Given the description of an element on the screen output the (x, y) to click on. 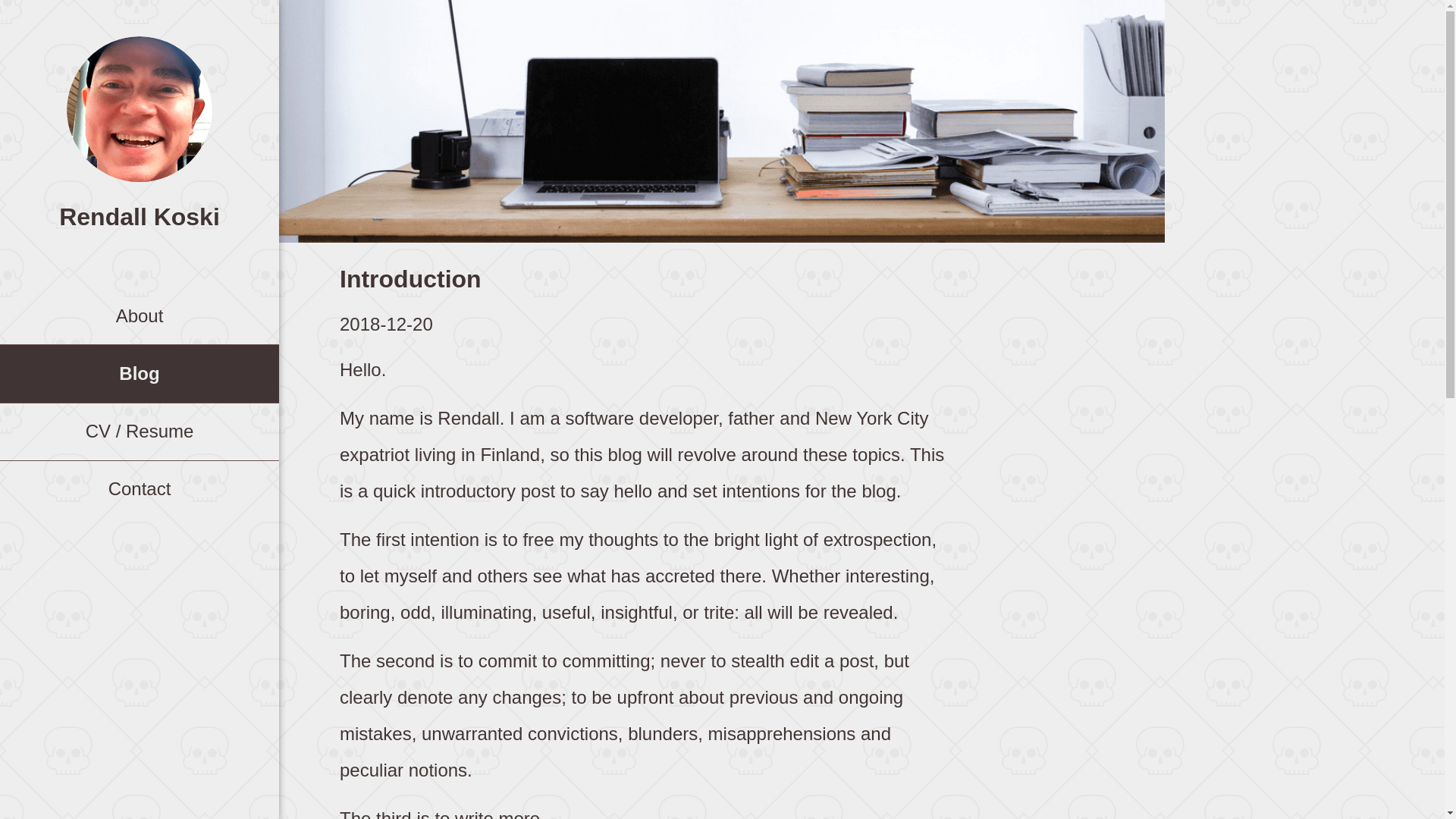
Contact (139, 489)
Rendall Koski (139, 215)
Blog (139, 373)
About (139, 315)
